Given the description of an element on the screen output the (x, y) to click on. 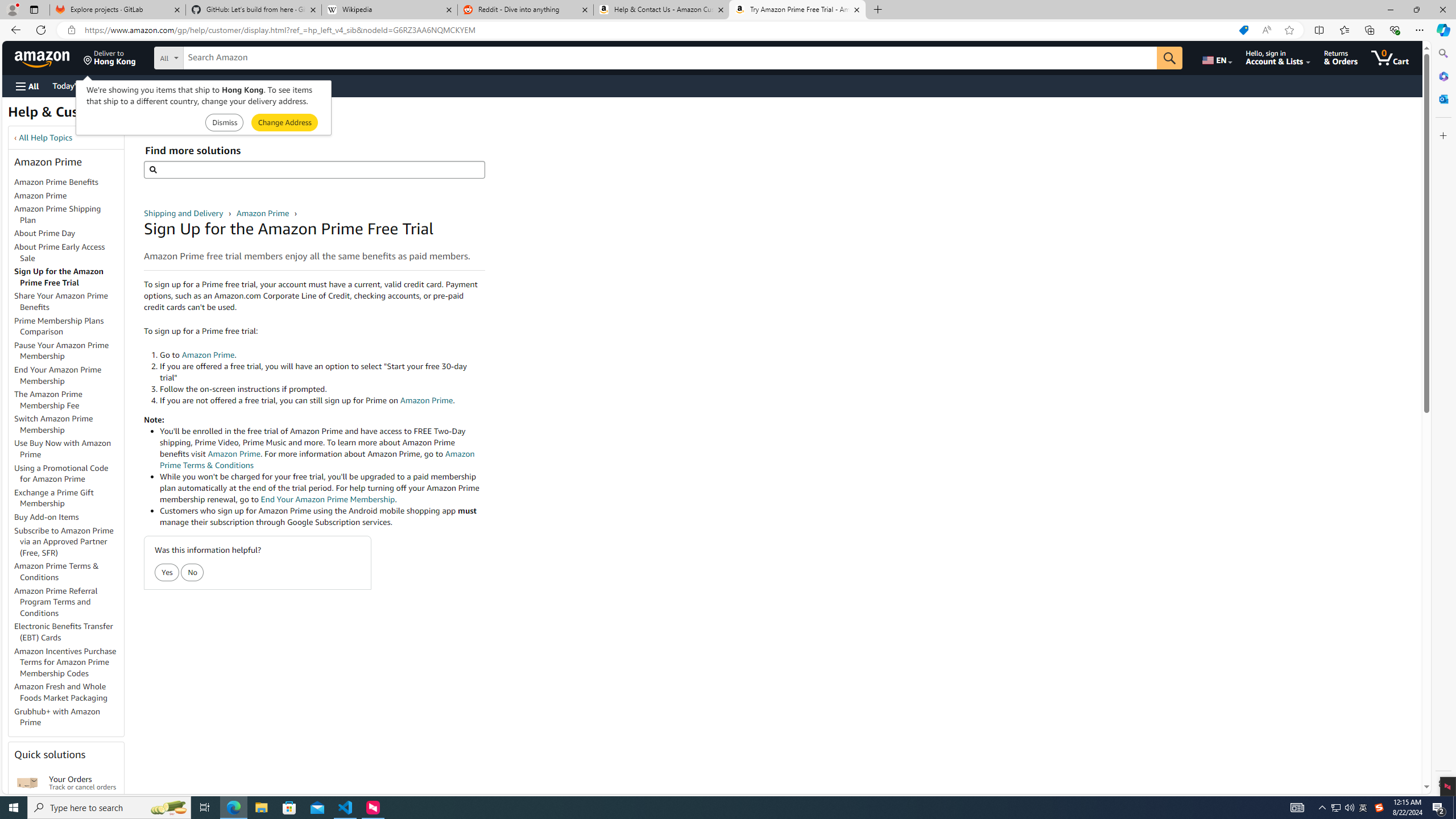
About Prime Early Access Sale (59, 251)
Switch Amazon Prime Membership (53, 423)
Your Orders (27, 782)
Amazon Prime  (263, 213)
Exchange a Prime Gift Membership (68, 498)
All Help Topics (45, 137)
Amazon Prime Shipping Plan (57, 214)
Grubhub+ with Amazon Prime (68, 716)
Skip to main content (48, 56)
Prime Membership Plans Comparison (68, 326)
Exchange a Prime Gift Membership (53, 497)
